Given the description of an element on the screen output the (x, y) to click on. 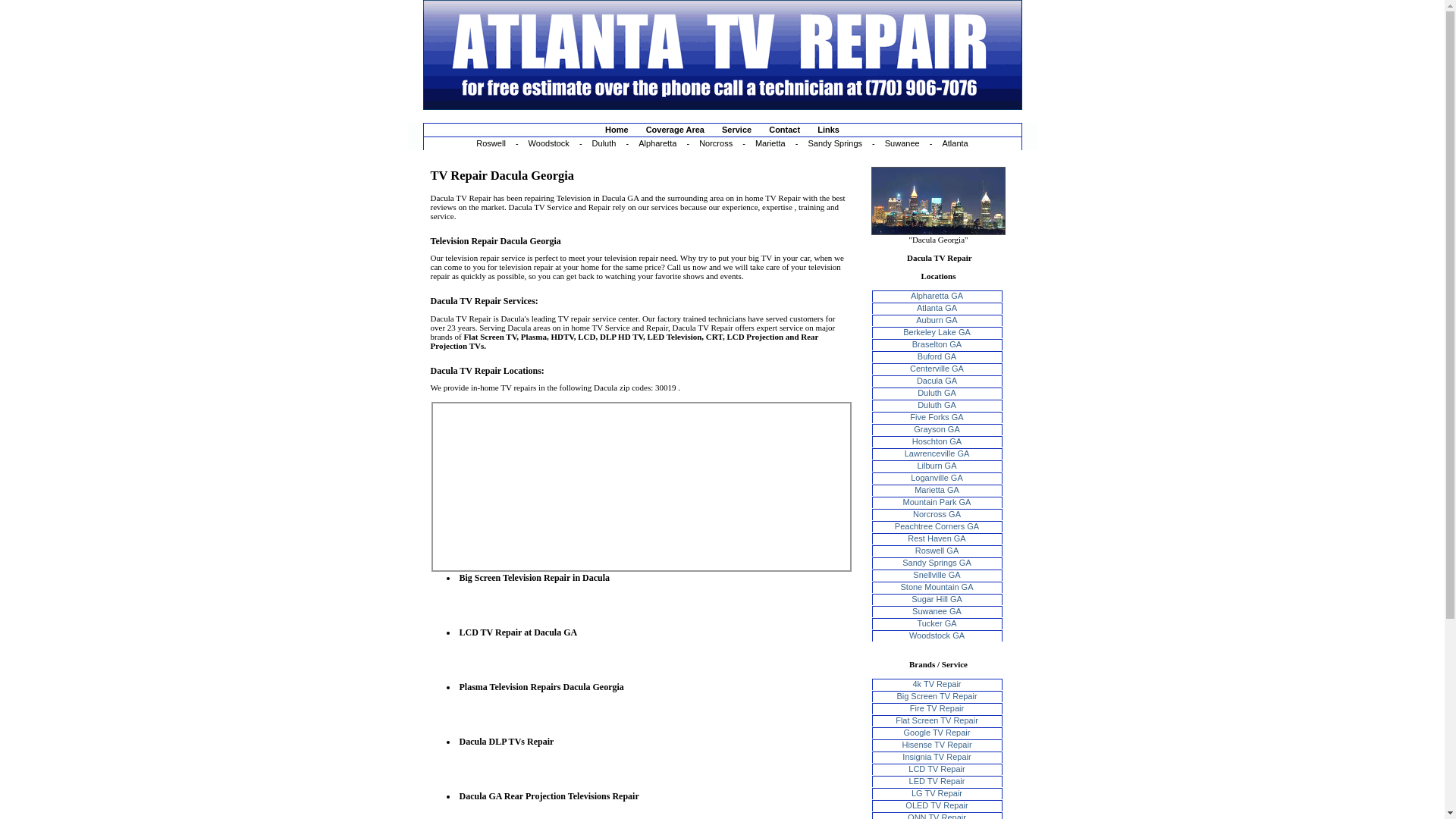
Sugar Hill GA (936, 598)
Centerville Georgia TV Repair (936, 368)
Buford Georgia TV Repair (936, 356)
Service (736, 129)
Hoschton GA (936, 440)
Duluth GA (936, 392)
Duluth Georgia TV Repair (936, 404)
Duluth (604, 143)
Loganville GA (936, 477)
Contact (784, 129)
Norcross GA (936, 513)
Roswell TV Repair (490, 143)
Suwanee Georgia TV Repair (902, 143)
Marietta (770, 143)
Five Forks Georgia TV Repair (936, 416)
